Given the description of an element on the screen output the (x, y) to click on. 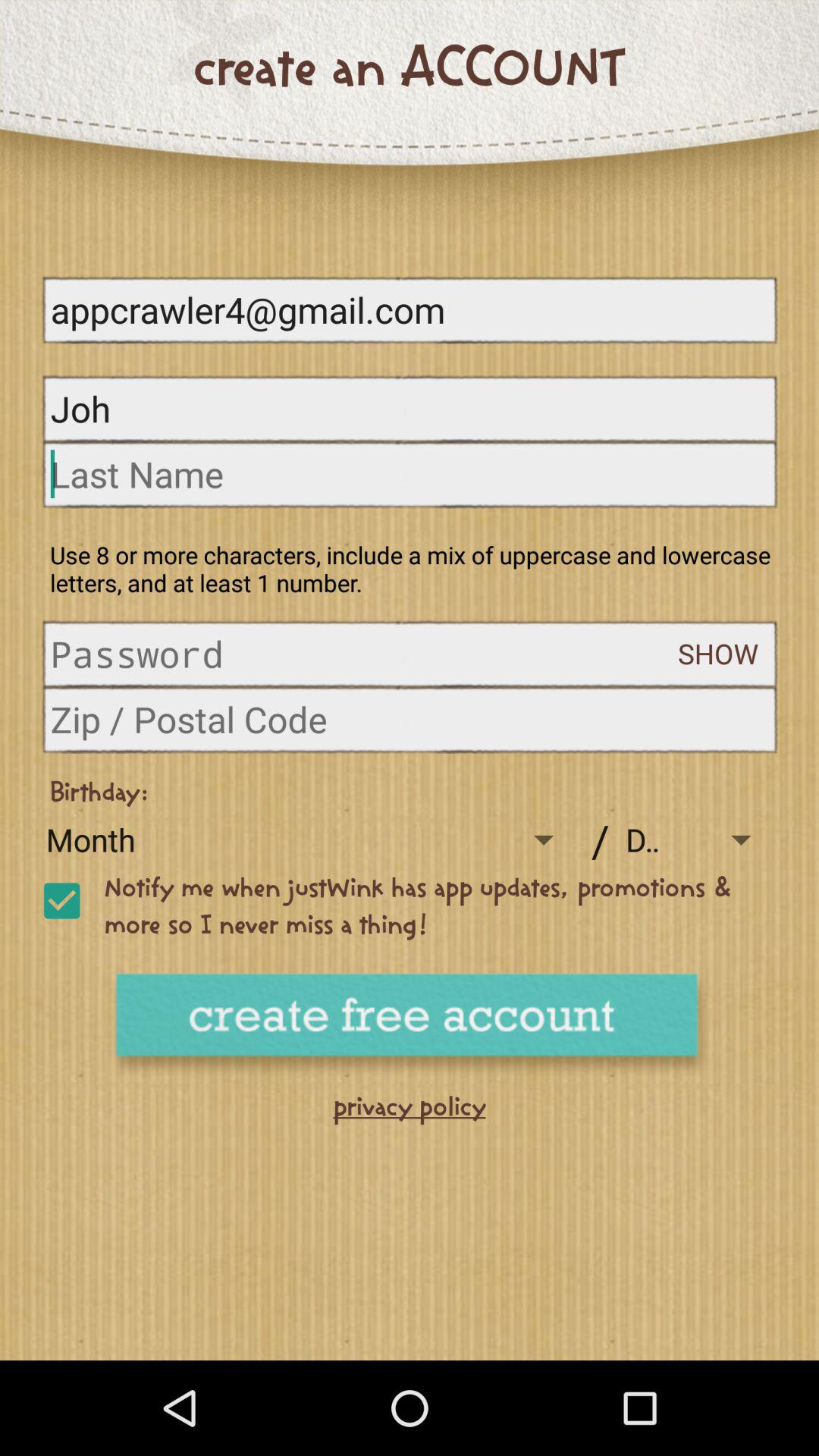
create free account button (409, 1025)
